Given the description of an element on the screen output the (x, y) to click on. 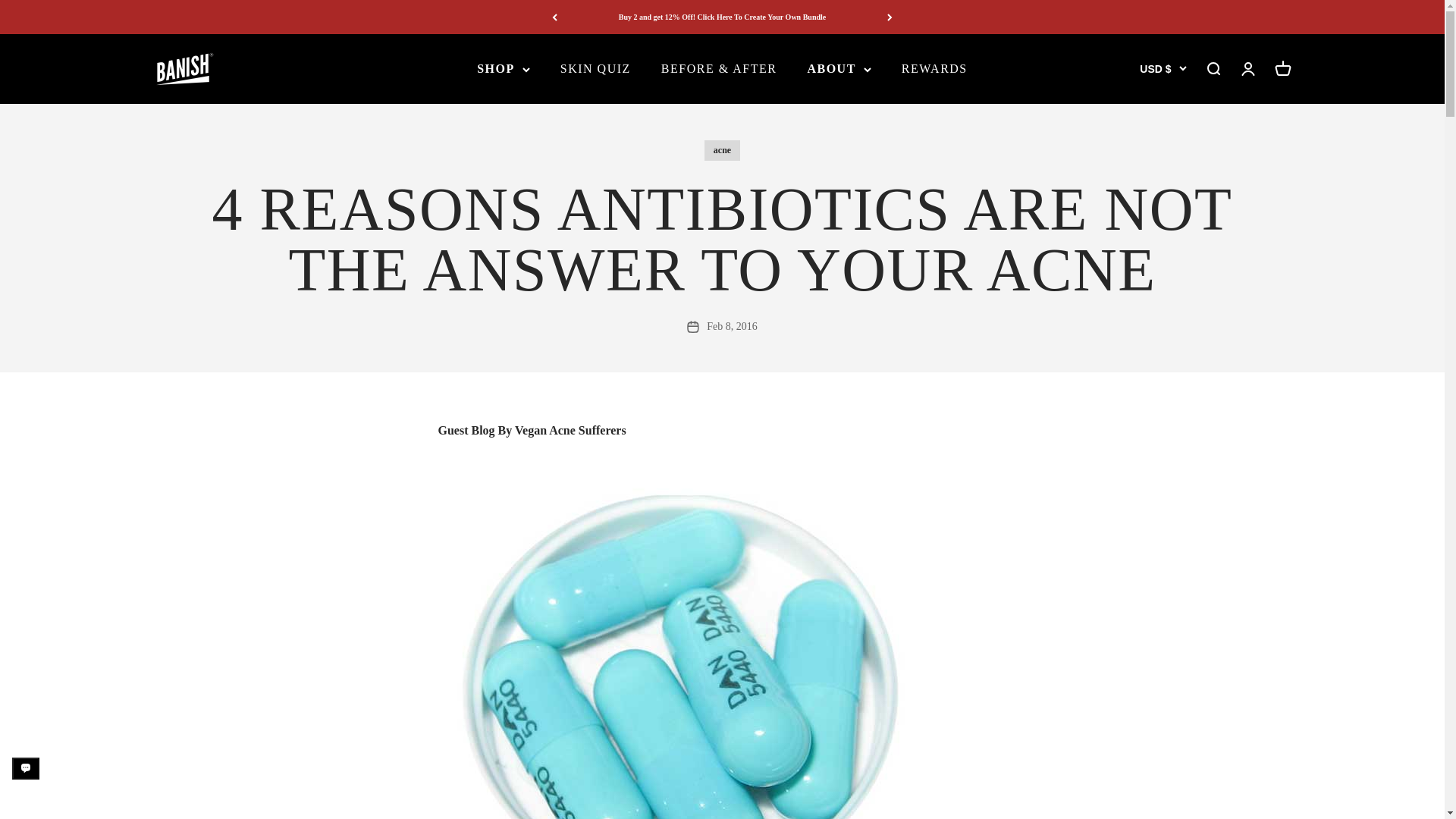
BANISH (183, 68)
SKIN QUIZ (595, 68)
REWARDS (934, 68)
